Given the description of an element on the screen output the (x, y) to click on. 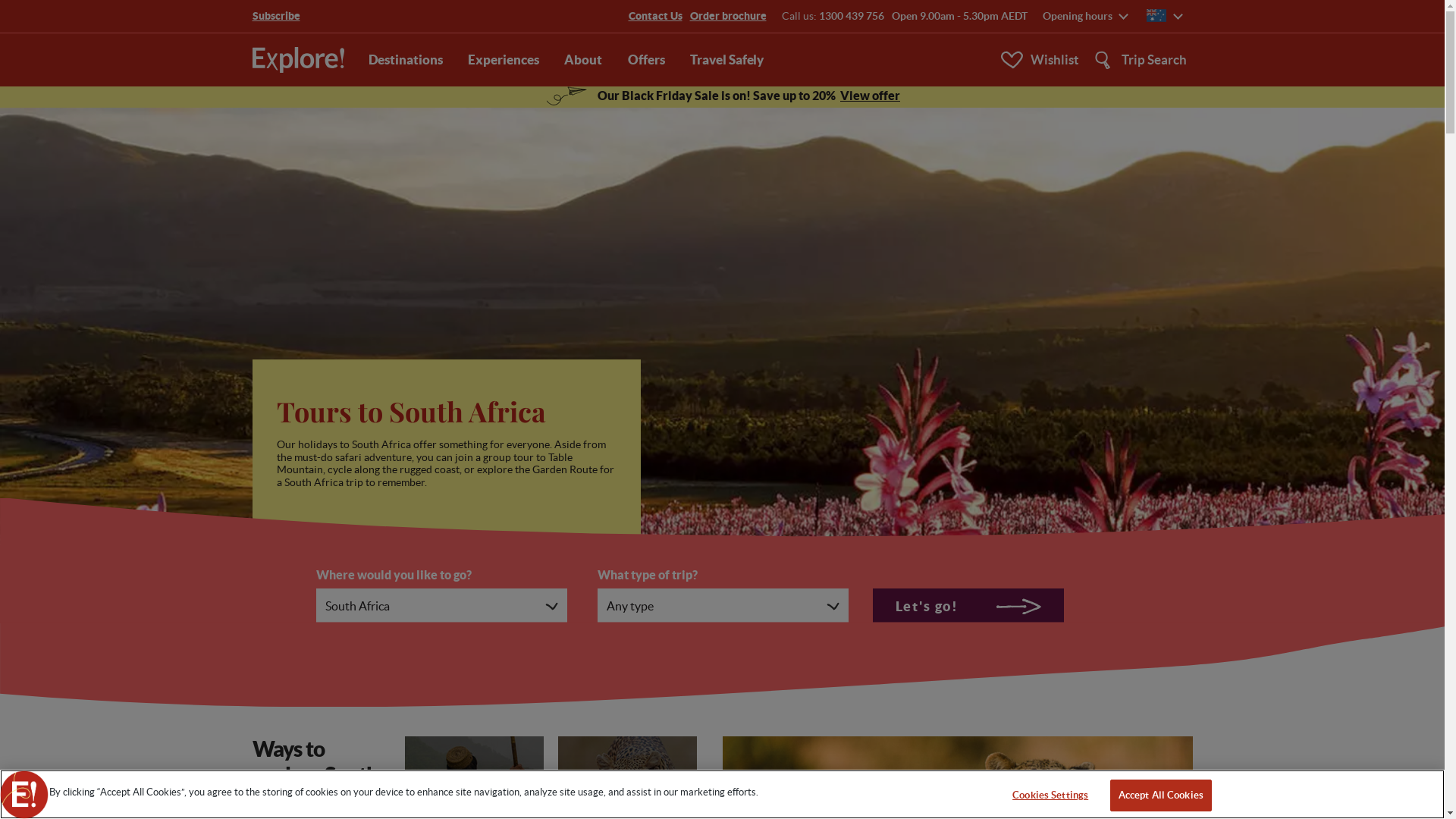
Explore Element type: hover (297, 59)
Wishlist Element type: text (1038, 59)
Africa Element type: text (352, 17)
Travel Safely Element type: text (726, 60)
Accept All Cookies Element type: text (1160, 795)
Destinations Element type: text (405, 60)
Cookies Settings Element type: text (1050, 795)
Subscribe Element type: text (275, 15)
View offer Element type: text (869, 95)
Experiences Element type: text (502, 60)
Contact Us Element type: text (654, 16)
Offers Element type: text (645, 60)
Order brochure Element type: text (728, 16)
Let's go! Element type: text (967, 605)
Trip Search Element type: text (1135, 59)
About Element type: text (583, 60)
Destinations Element type: text (283, 17)
1300 439 756 Element type: text (851, 15)
